Given the description of an element on the screen output the (x, y) to click on. 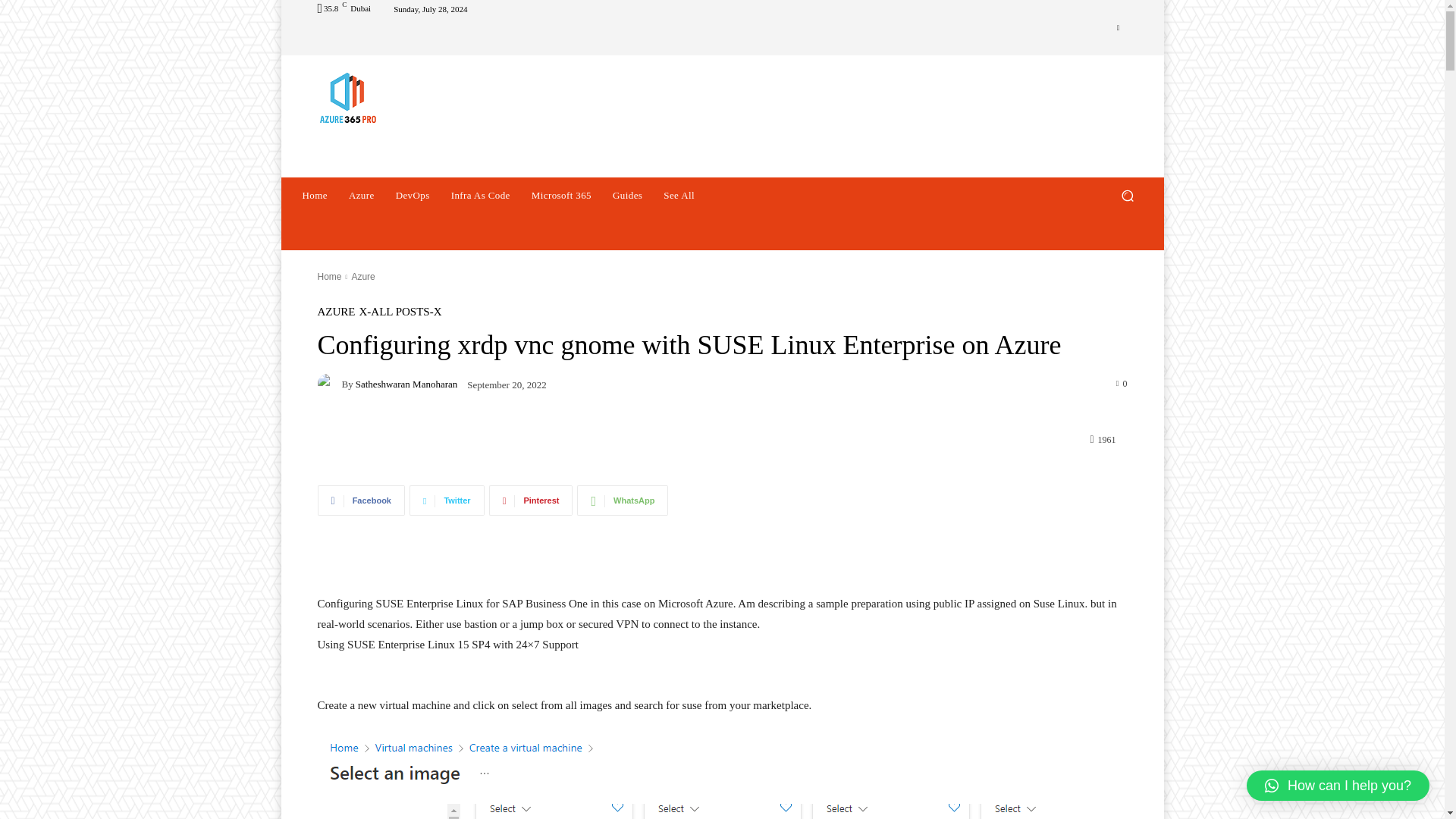
Infra As Code (481, 195)
Guides (627, 195)
Microsoft 365 (561, 195)
DevOps (413, 195)
Home (314, 195)
Azure (361, 195)
Linkedin (1117, 27)
See All (678, 195)
